Given the description of an element on the screen output the (x, y) to click on. 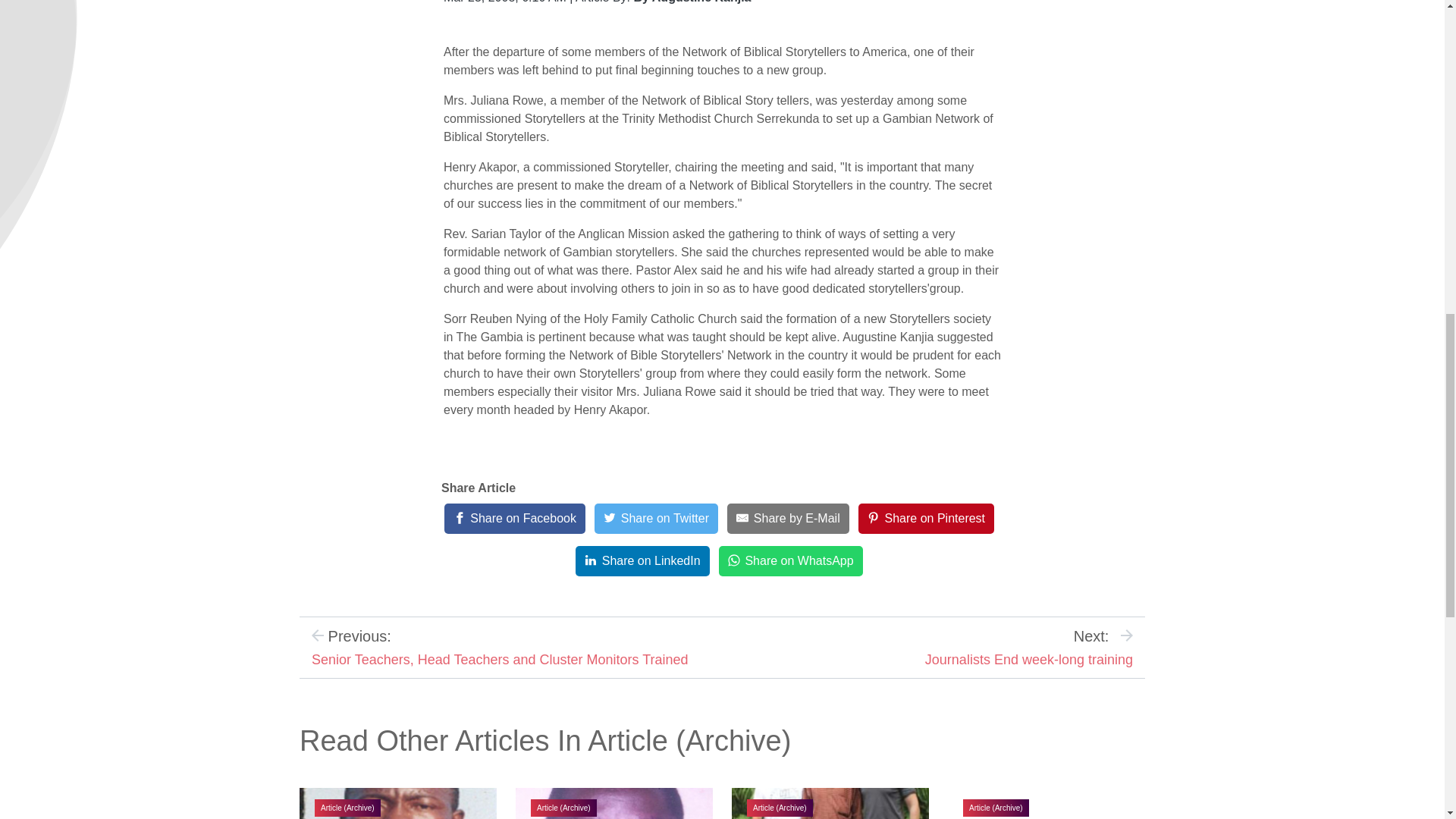
Share on Pinterest (926, 518)
Share by E-Mail (787, 518)
Share on LinkedIn (642, 561)
Share on WhatsApp (791, 561)
Senior Teachers, Head Teachers and Cluster Monitors Trained (499, 659)
Go to Journalists End week-long training (1028, 659)
Journalists End week-long training (1028, 659)
Share on Facebook (514, 518)
Share on Twitter (655, 518)
